Given the description of an element on the screen output the (x, y) to click on. 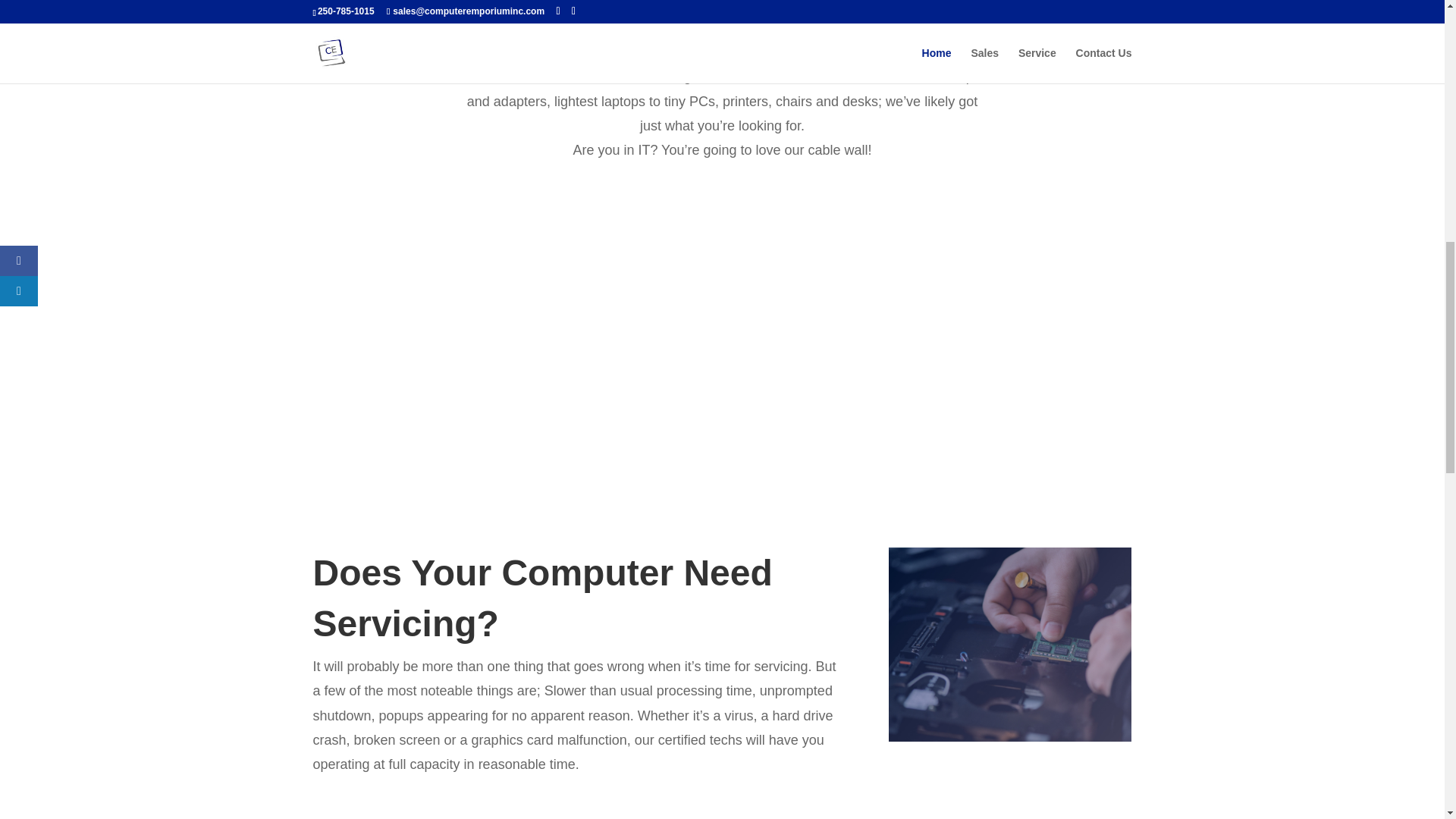
img-15 (1009, 644)
